Given the description of an element on the screen output the (x, y) to click on. 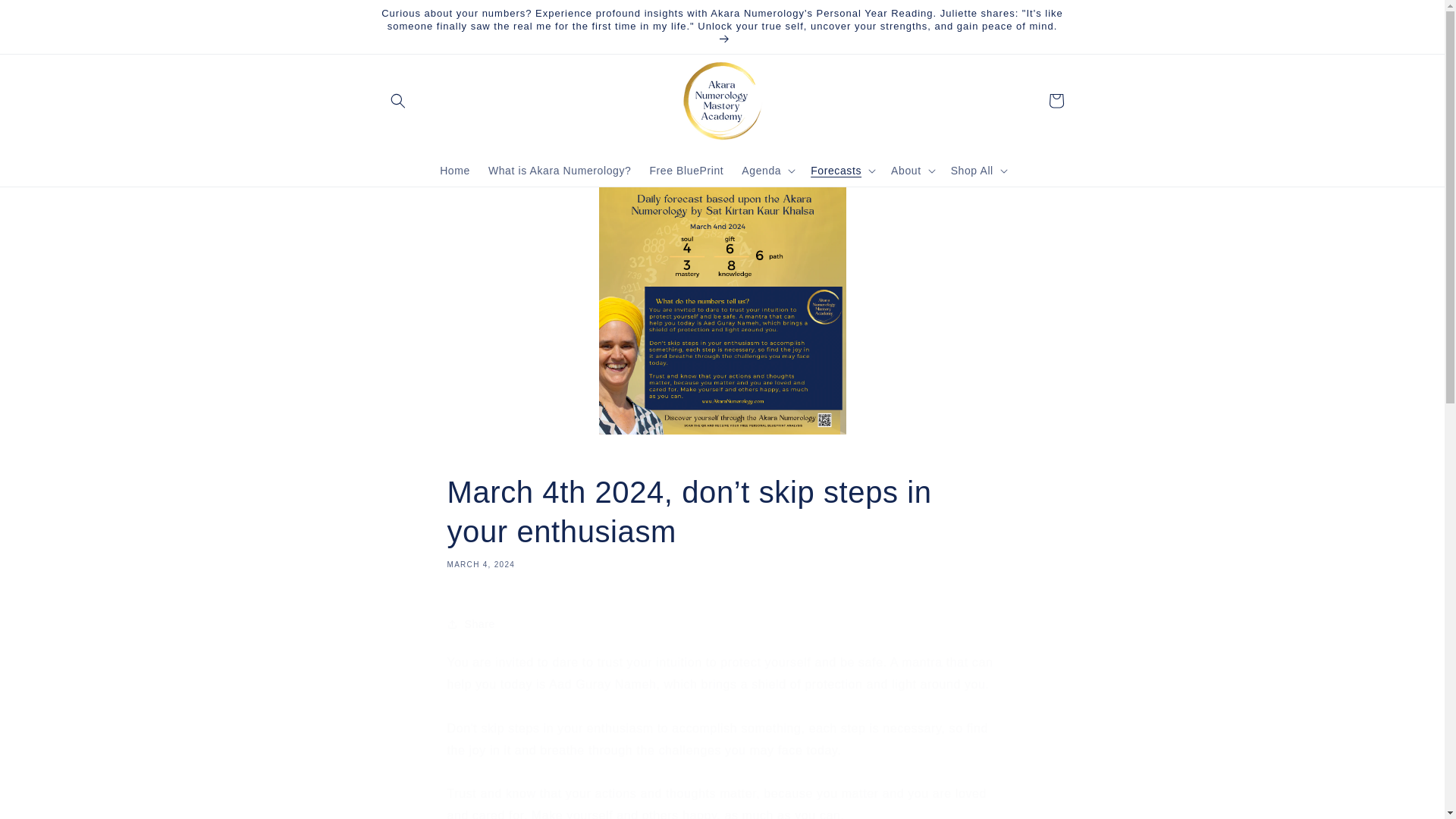
Share (721, 623)
What is Akara Numerology? (559, 170)
Home (454, 170)
Skip to content (45, 17)
Free BluePrint (686, 170)
